Given the description of an element on the screen output the (x, y) to click on. 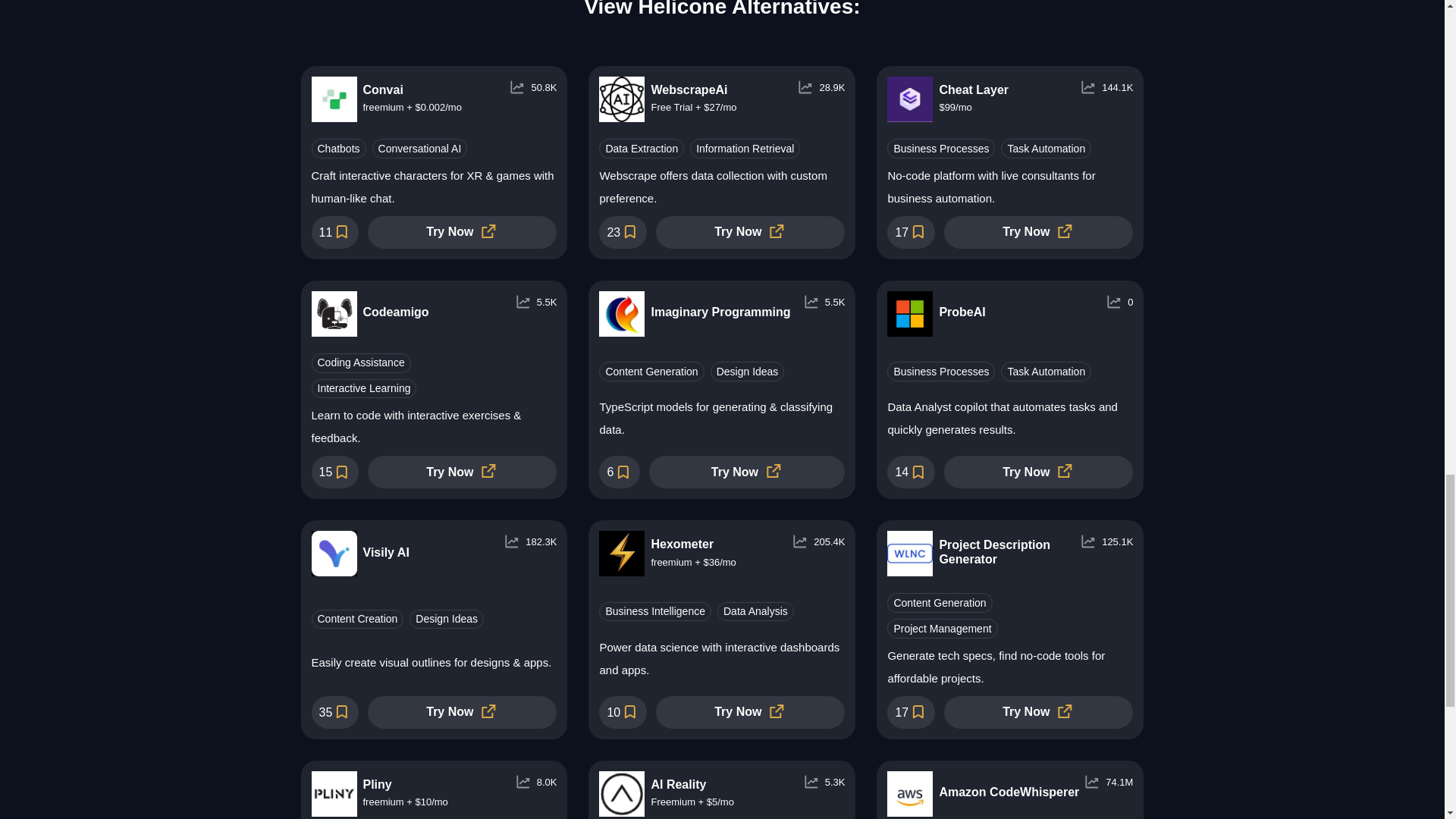
Data Extraction (641, 148)
Try Now (462, 232)
Chatbots (338, 148)
Conversational AI (419, 148)
